Given the description of an element on the screen output the (x, y) to click on. 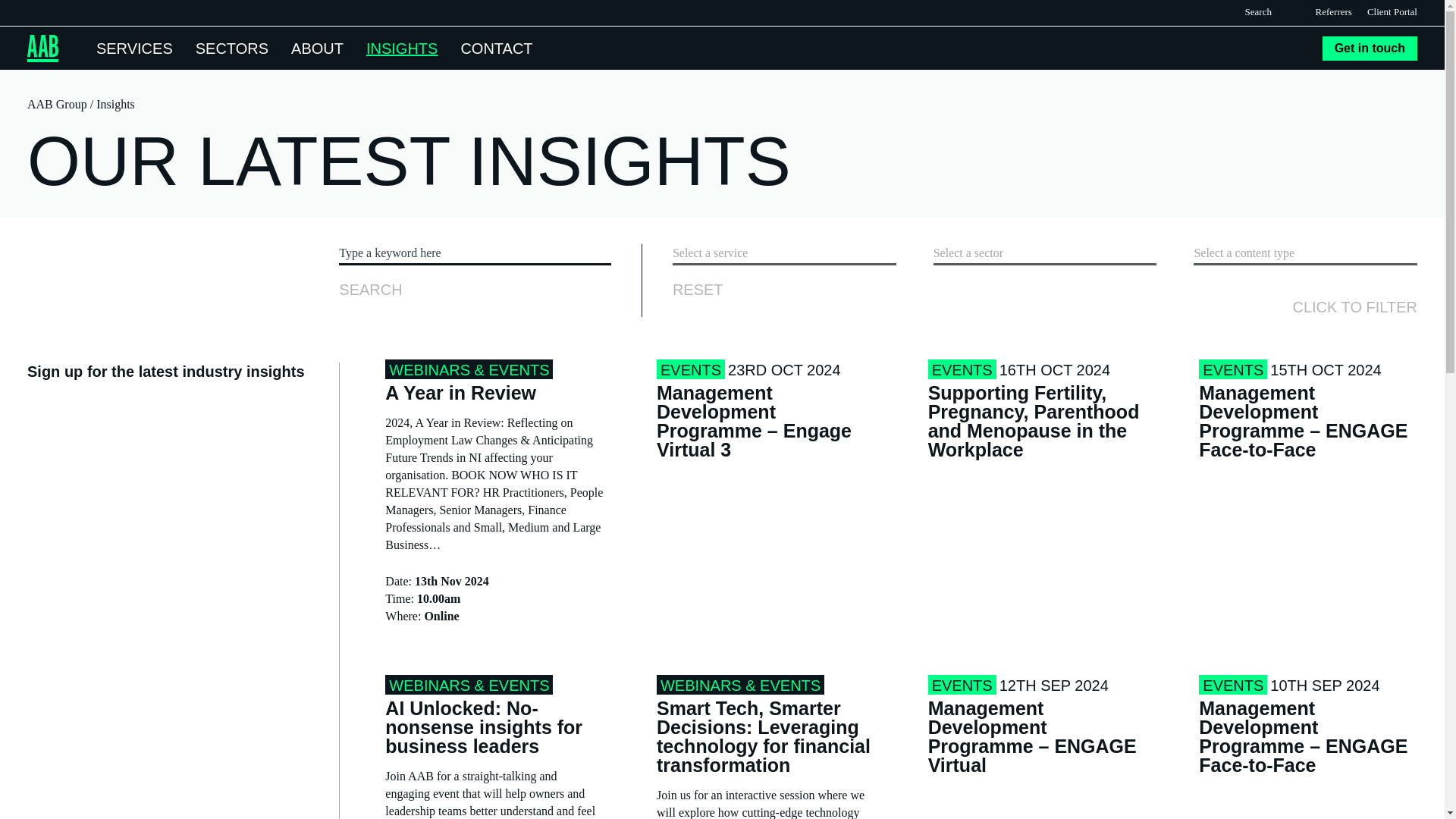
Reset (697, 289)
Search (1283, 11)
SERVICES (134, 47)
ABOUT (317, 47)
SECTORS (231, 47)
Referrers (1334, 12)
AAB Logo (42, 48)
Reset (697, 289)
Search (1283, 11)
Click to Filter (1354, 306)
